Given the description of an element on the screen output the (x, y) to click on. 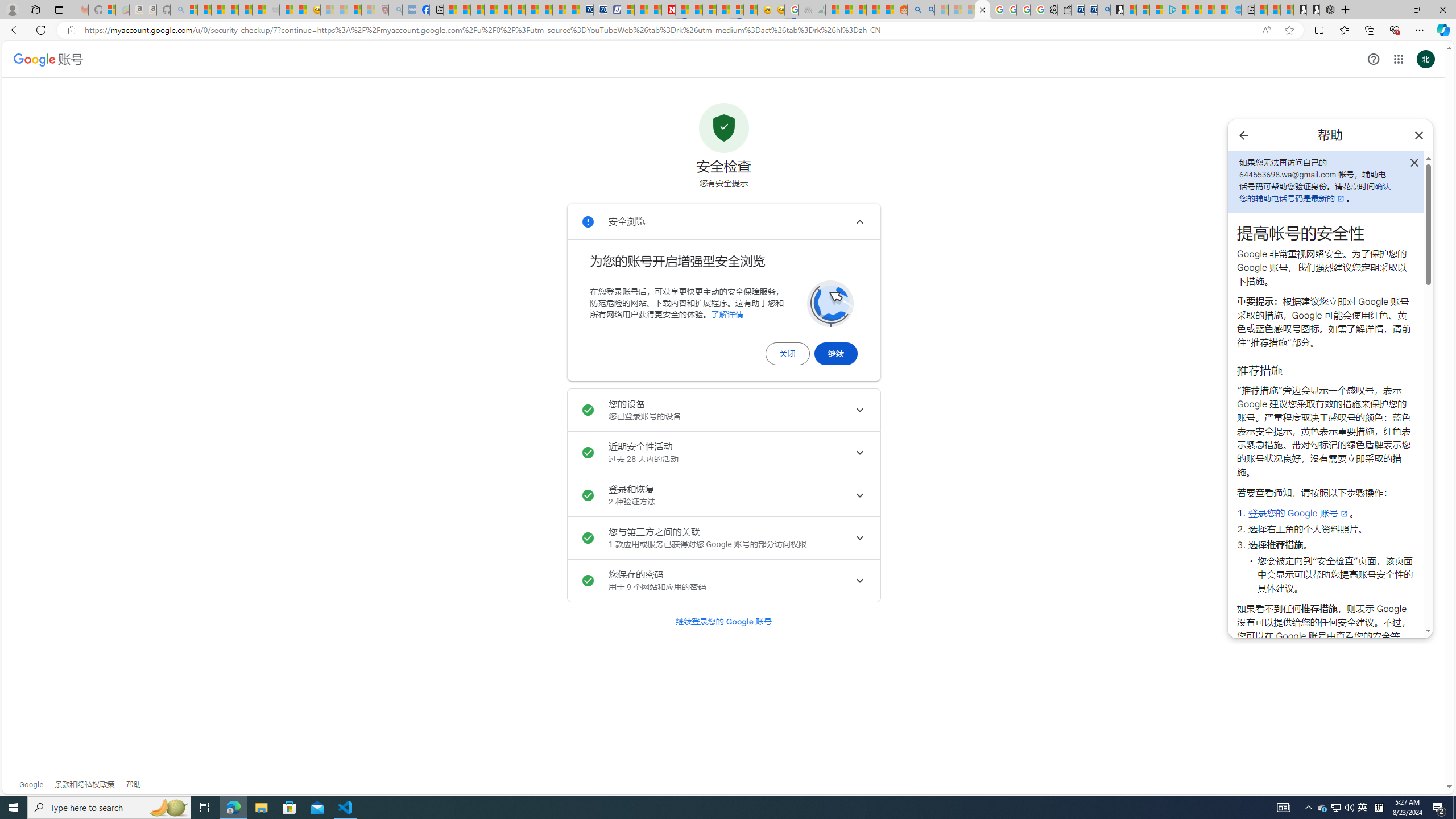
12 Popular Science Lies that Must be Corrected - Sleeping (368, 9)
Bing Real Estate - Home sales and rental listings (1103, 9)
